Given the description of an element on the screen output the (x, y) to click on. 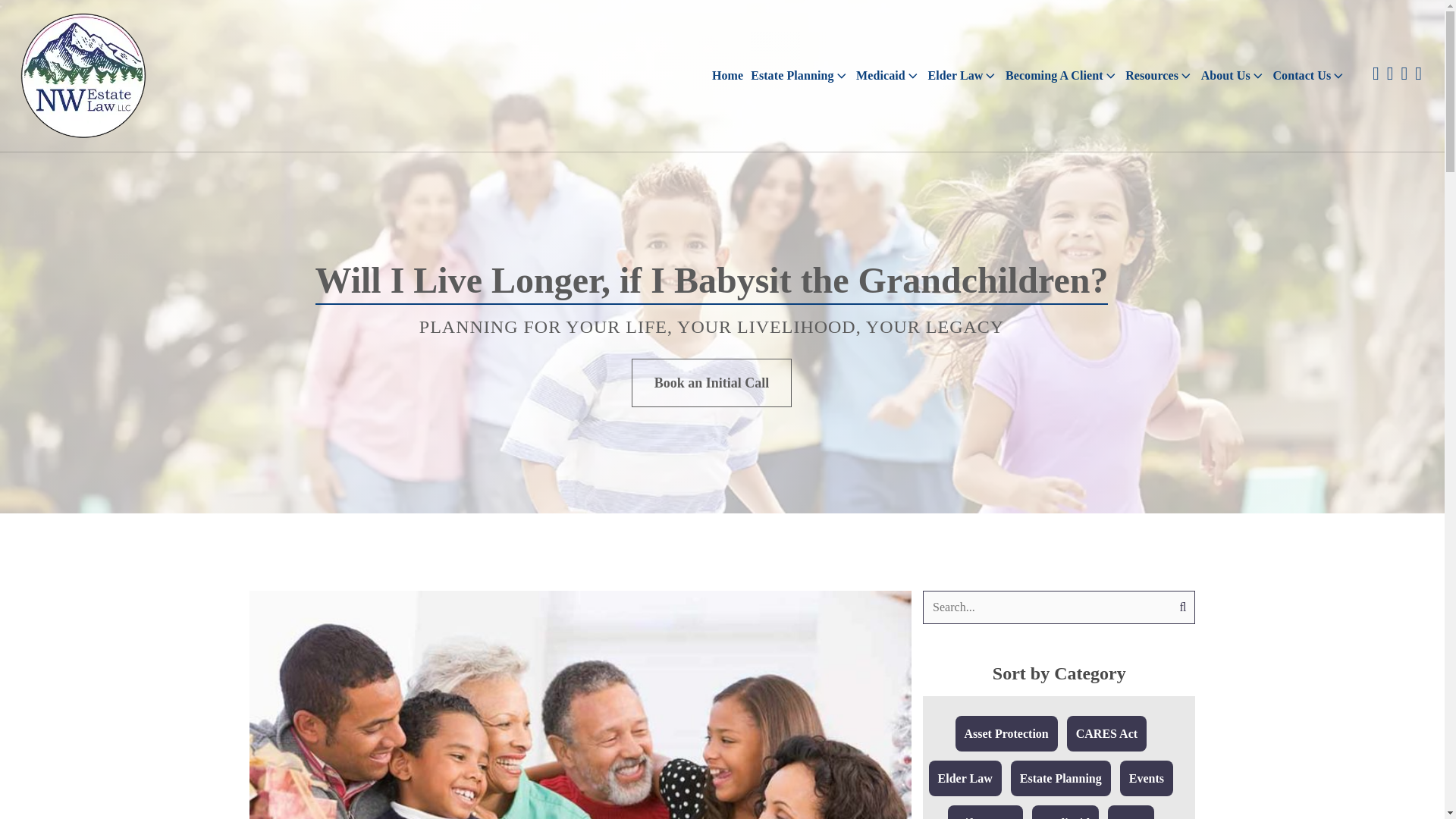
Estate Planning (799, 75)
Elder Law (962, 75)
Resources (1158, 75)
Becoming A Client (1062, 75)
Home (726, 75)
Medicaid (888, 75)
About Us (1233, 75)
Contact Us (1308, 75)
